Given the description of an element on the screen output the (x, y) to click on. 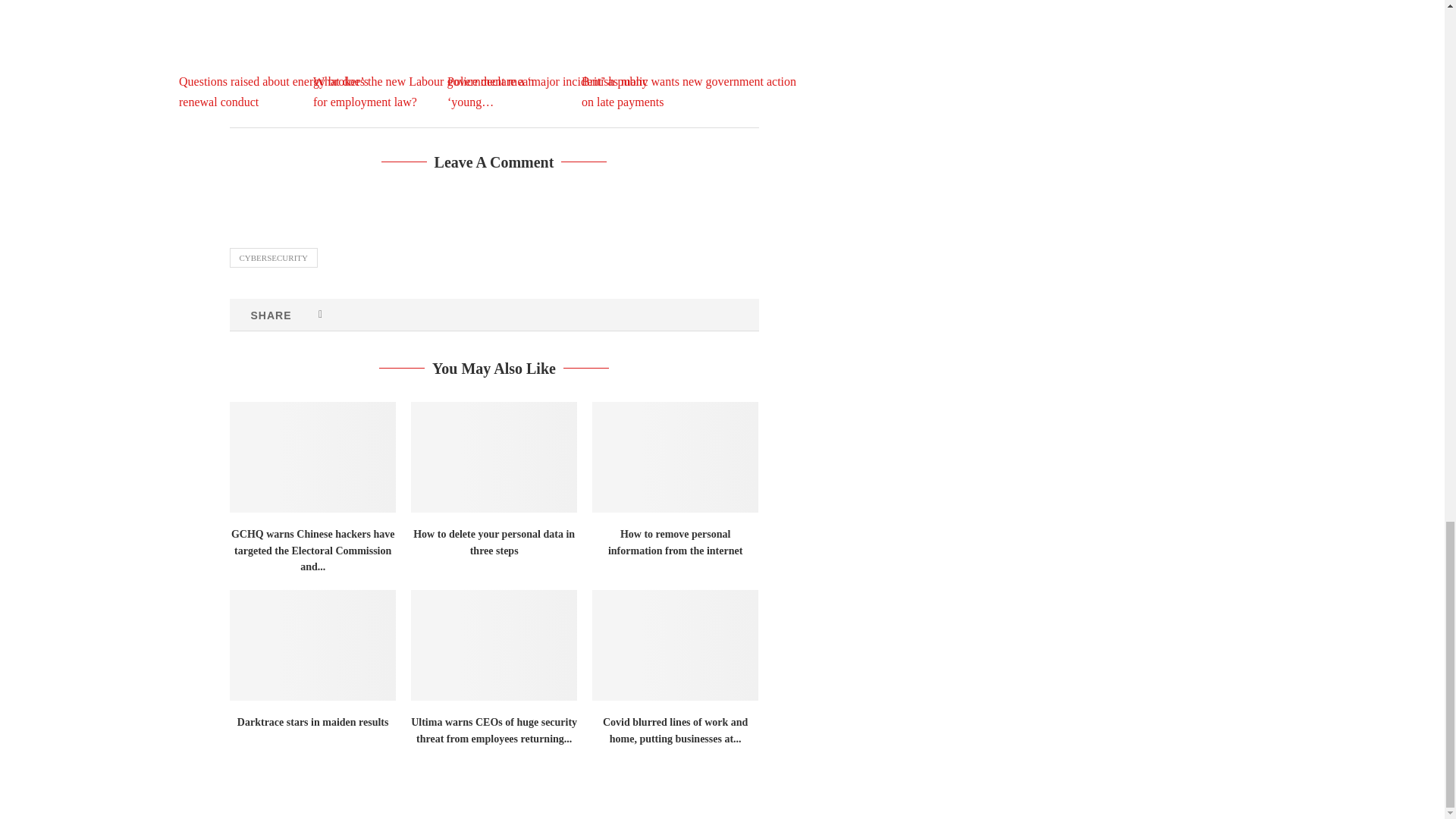
How to remove personal information from the internet (675, 457)
What does the new Labour government mean for employment law? (426, 54)
Darktrace stars in maiden results (311, 645)
British public wants new government action on late payments (694, 54)
How to delete your personal data in three steps (493, 457)
